Given the description of an element on the screen output the (x, y) to click on. 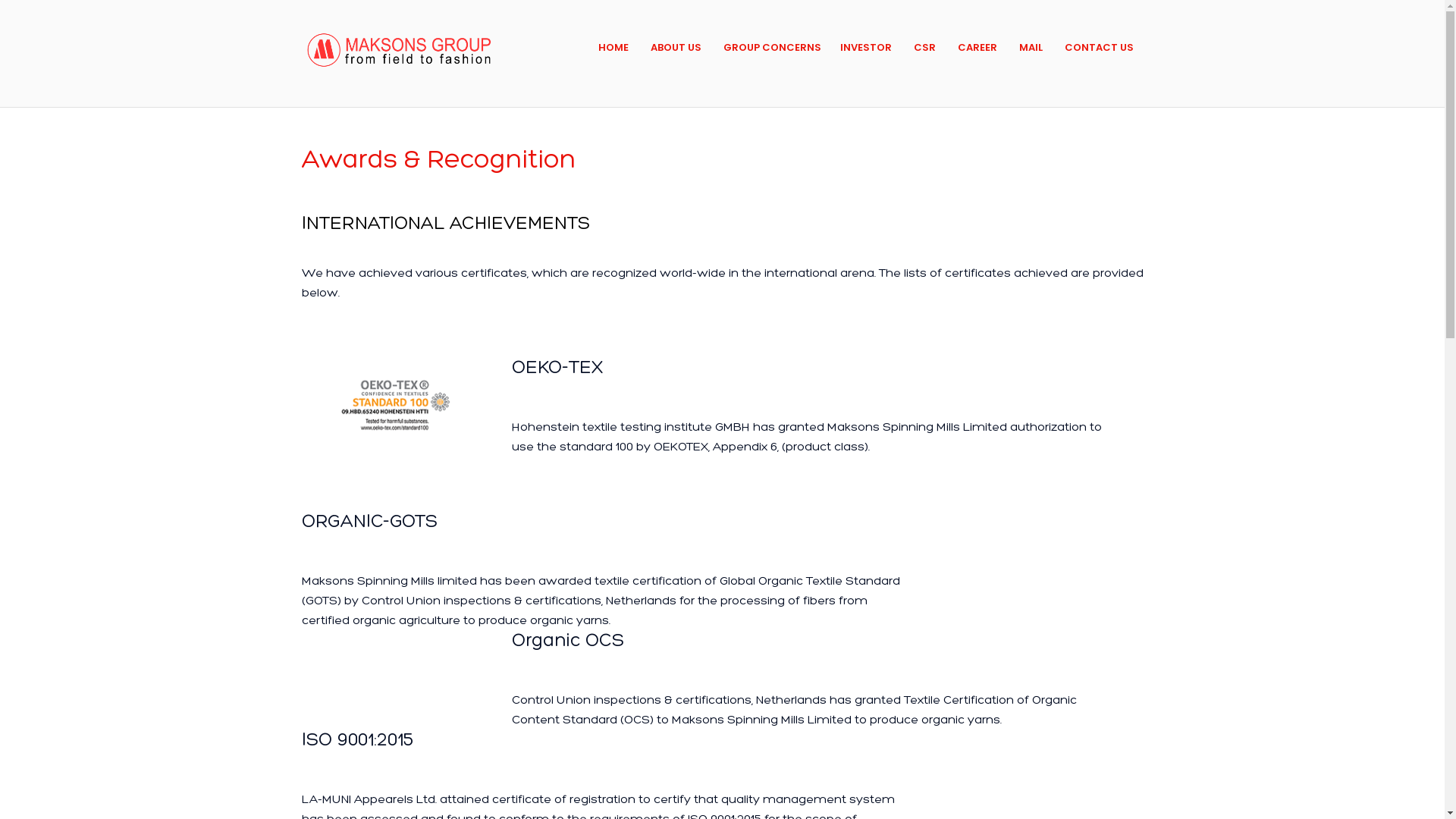
CAREER Element type: text (977, 47)
CONTACT US Element type: text (1098, 47)
ABOUT US Element type: text (675, 47)
HOME Element type: text (613, 47)
INVESTOR Element type: text (865, 47)
GROUP CONCERNS Element type: text (772, 47)
CSR Element type: text (924, 47)
MAIL Element type: text (1030, 47)
